Given the description of an element on the screen output the (x, y) to click on. 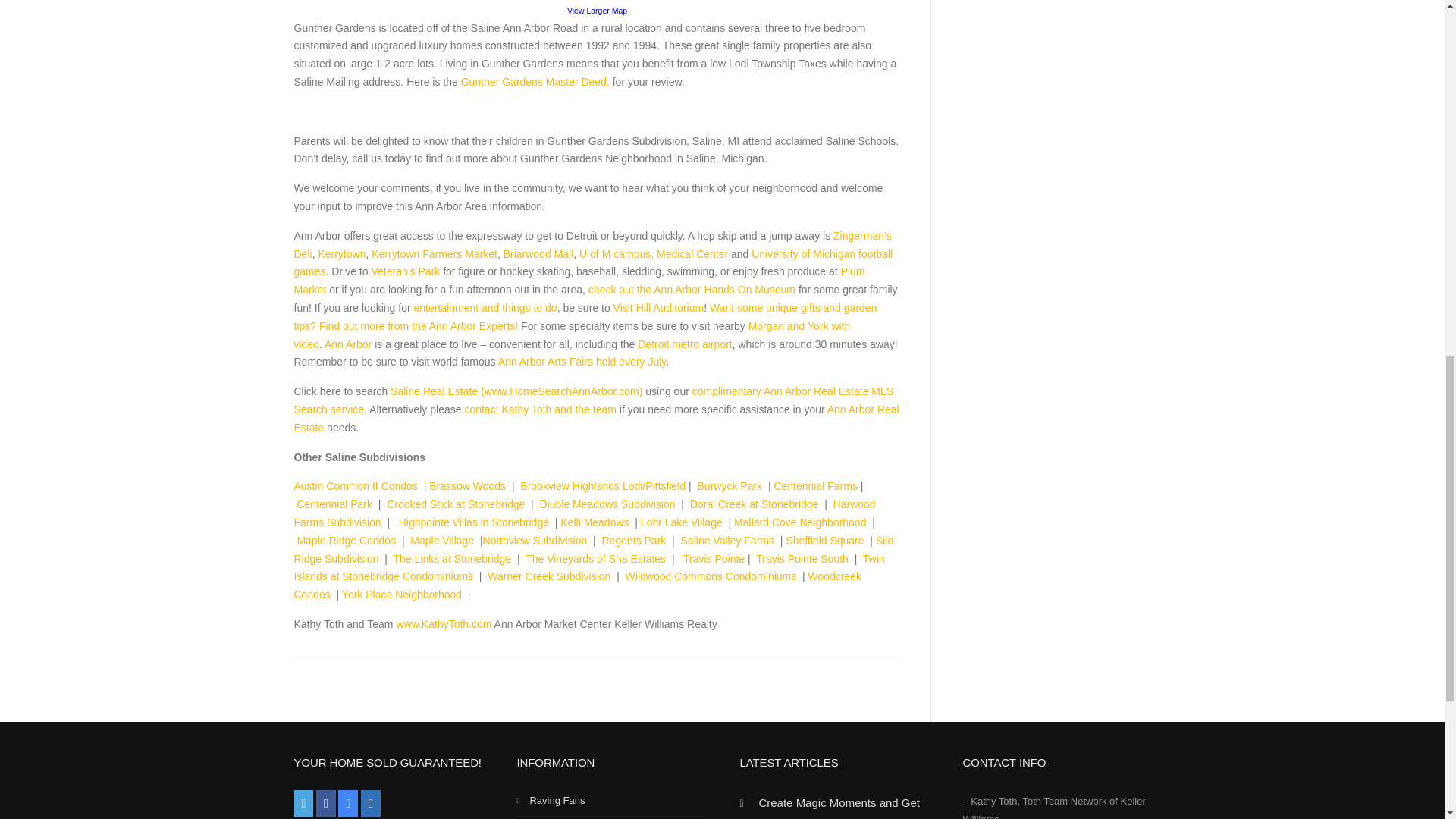
Morgan and York (572, 335)
University of Michigan (653, 254)
Hill Auditorium (658, 307)
Vets Park (406, 271)
U of M football (593, 263)
